Given the description of an element on the screen output the (x, y) to click on. 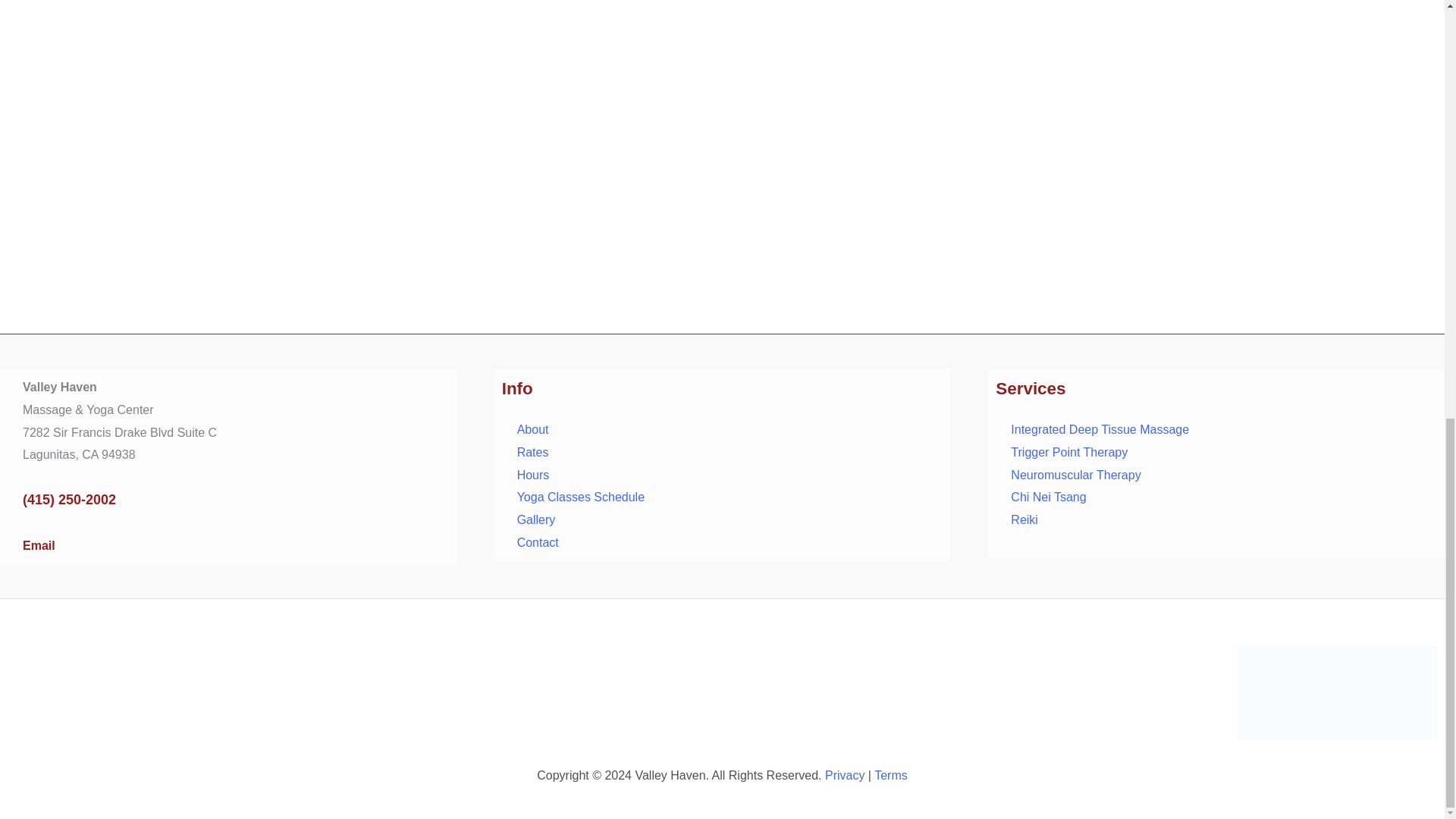
Trigger Point Therapy (1068, 451)
Hours (533, 474)
About (532, 429)
Reiki (1024, 519)
Chi Nei Tsang (1048, 496)
Rates (532, 451)
Privacy (844, 775)
Contact (537, 542)
Neuromuscular Therapy (1075, 474)
Integrated Deep Tissue Massage (1099, 429)
Yoga Classes Schedule (580, 496)
Email (39, 545)
Gallery (536, 519)
